Given the description of an element on the screen output the (x, y) to click on. 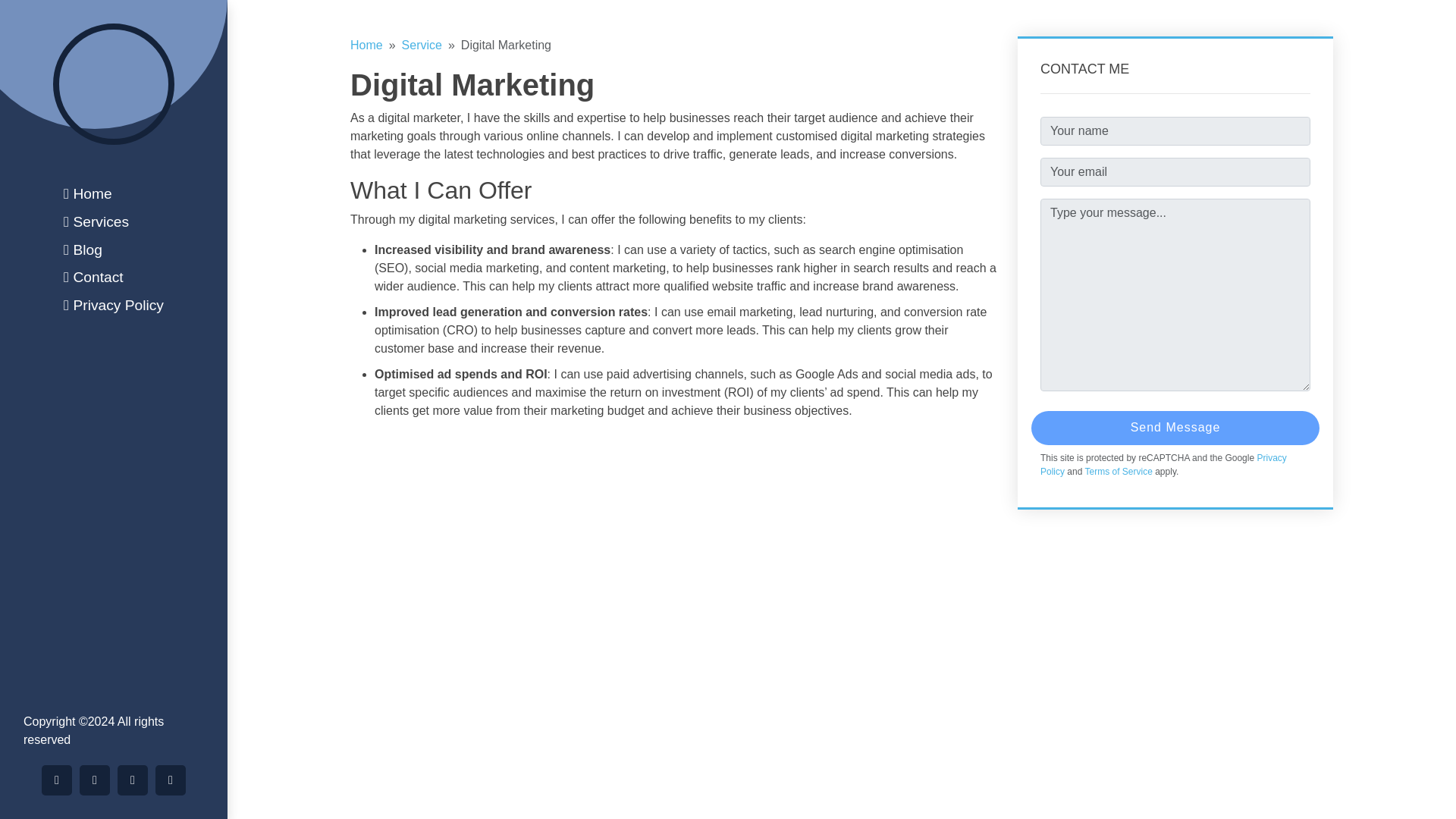
Terms of Service (1117, 471)
Blog (113, 250)
Privacy Policy (1164, 464)
Home (366, 44)
Send Message (1174, 428)
Send Message (1174, 428)
Service (421, 44)
Services (113, 222)
Home (113, 194)
Contact (113, 277)
Privacy Policy (113, 305)
